Given the description of an element on the screen output the (x, y) to click on. 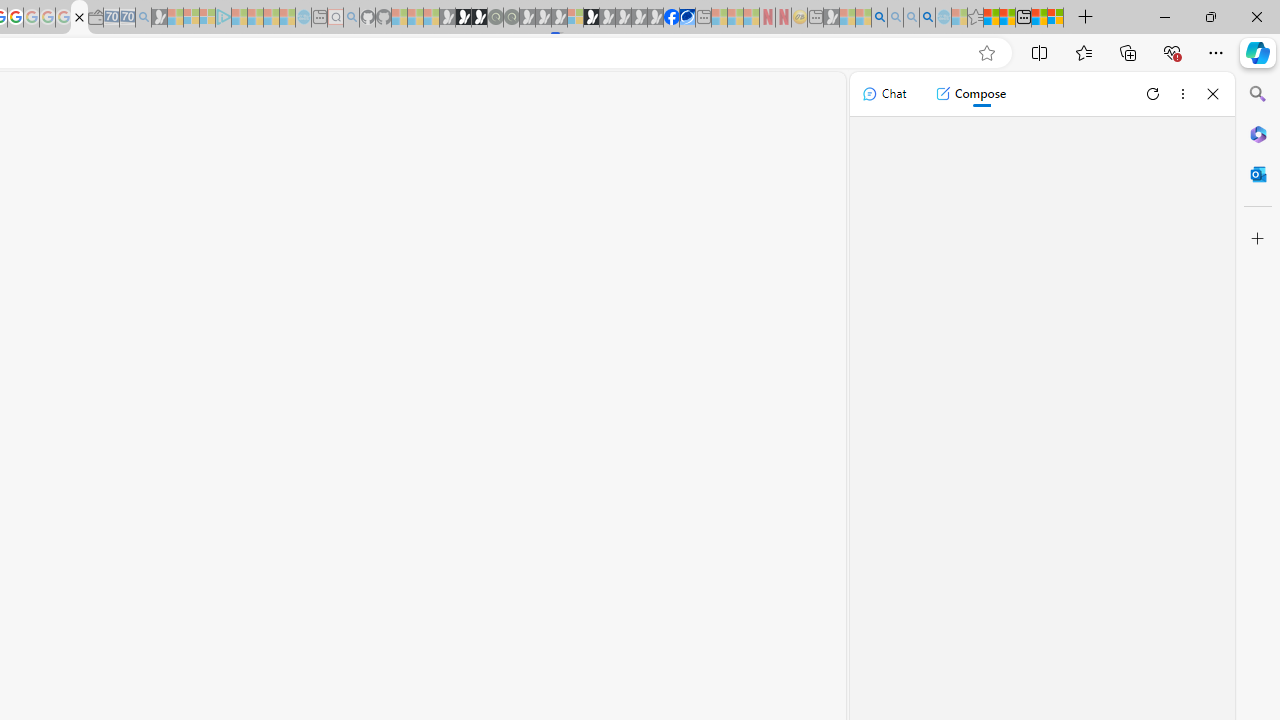
Bing AI - Search (879, 17)
Compose (970, 93)
Nordace | Facebook (671, 17)
github - Search - Sleeping (351, 17)
